Given the description of an element on the screen output the (x, y) to click on. 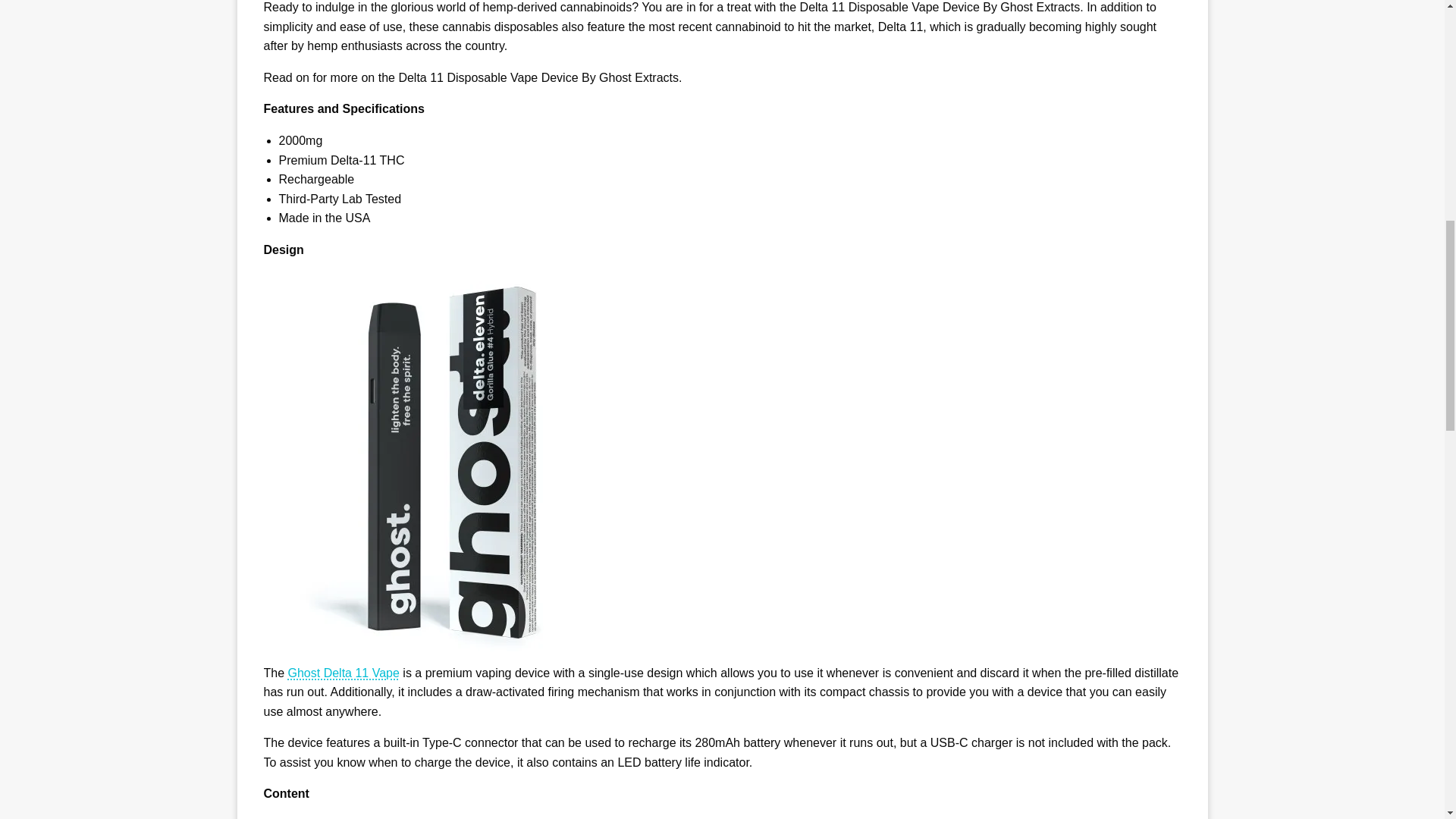
Ghost Delta 11 Vape (343, 672)
